Given the description of an element on the screen output the (x, y) to click on. 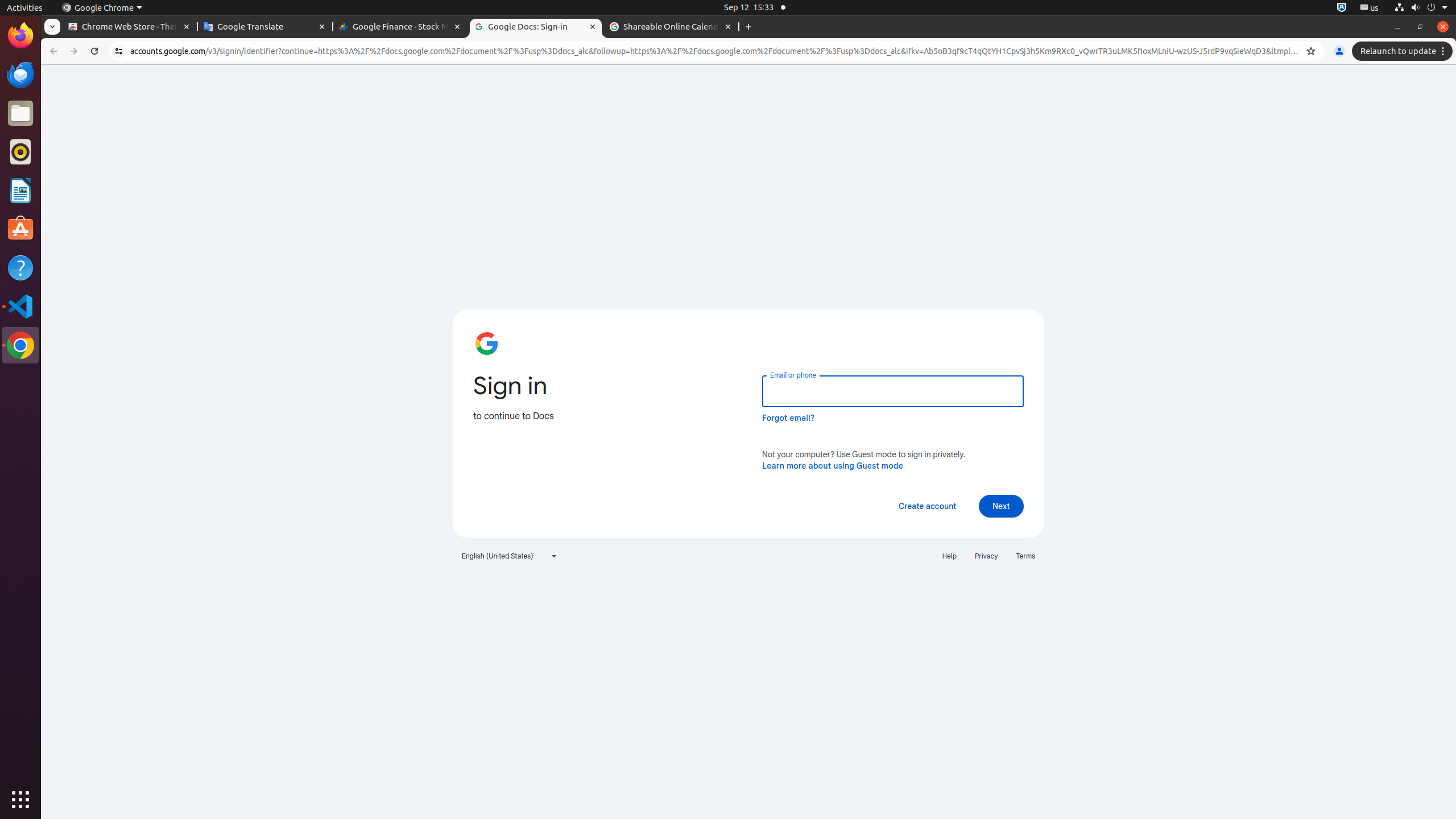
Thunderbird Mail Element type: push-button (20, 74)
